Given the description of an element on the screen output the (x, y) to click on. 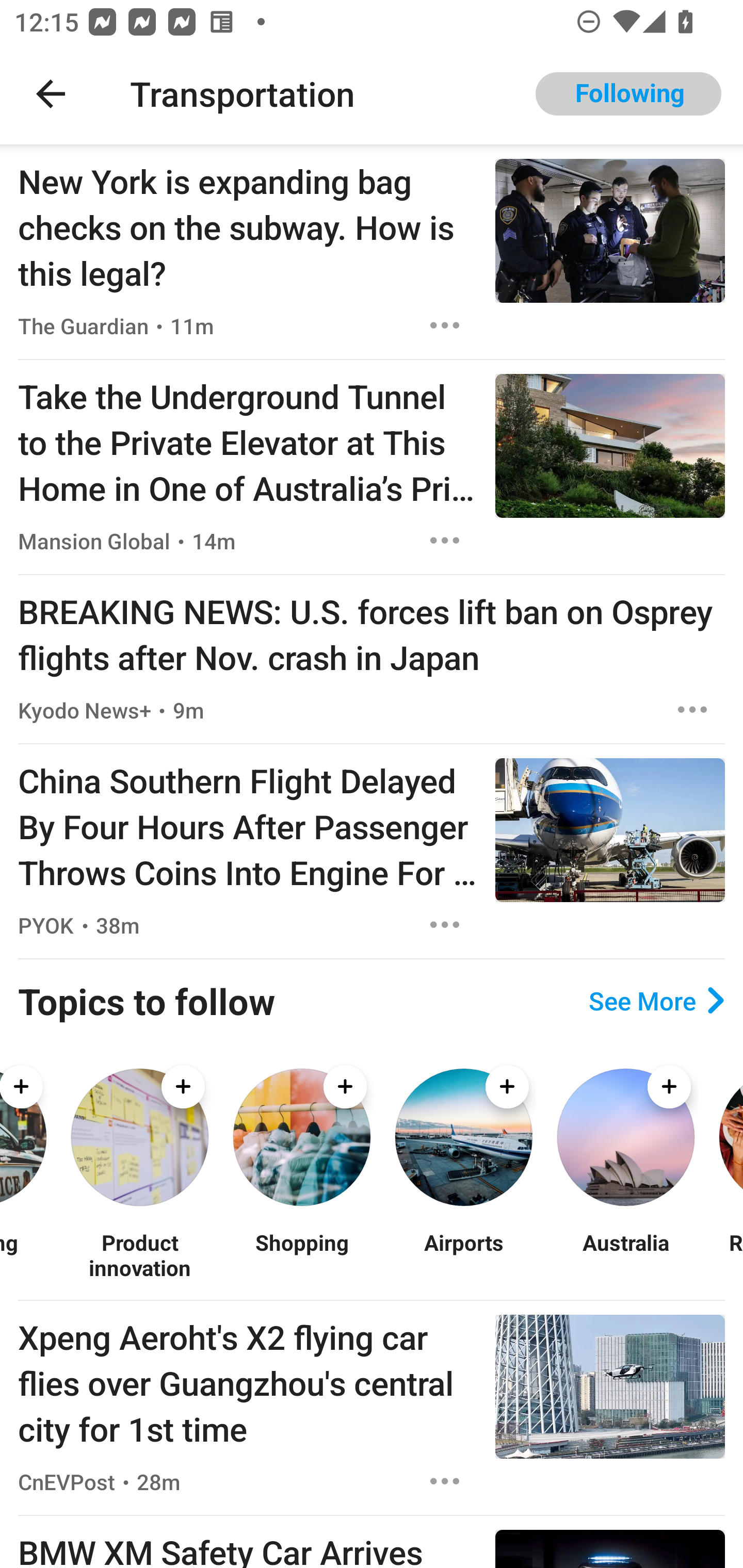
Navigate up (50, 93)
Following (628, 94)
Options (444, 325)
Options (444, 540)
Options (692, 709)
Options (444, 925)
See More (656, 1000)
Product innovation (139, 1254)
Shopping (301, 1254)
Airports (463, 1254)
Australia (625, 1254)
Options (444, 1481)
